Given the description of an element on the screen output the (x, y) to click on. 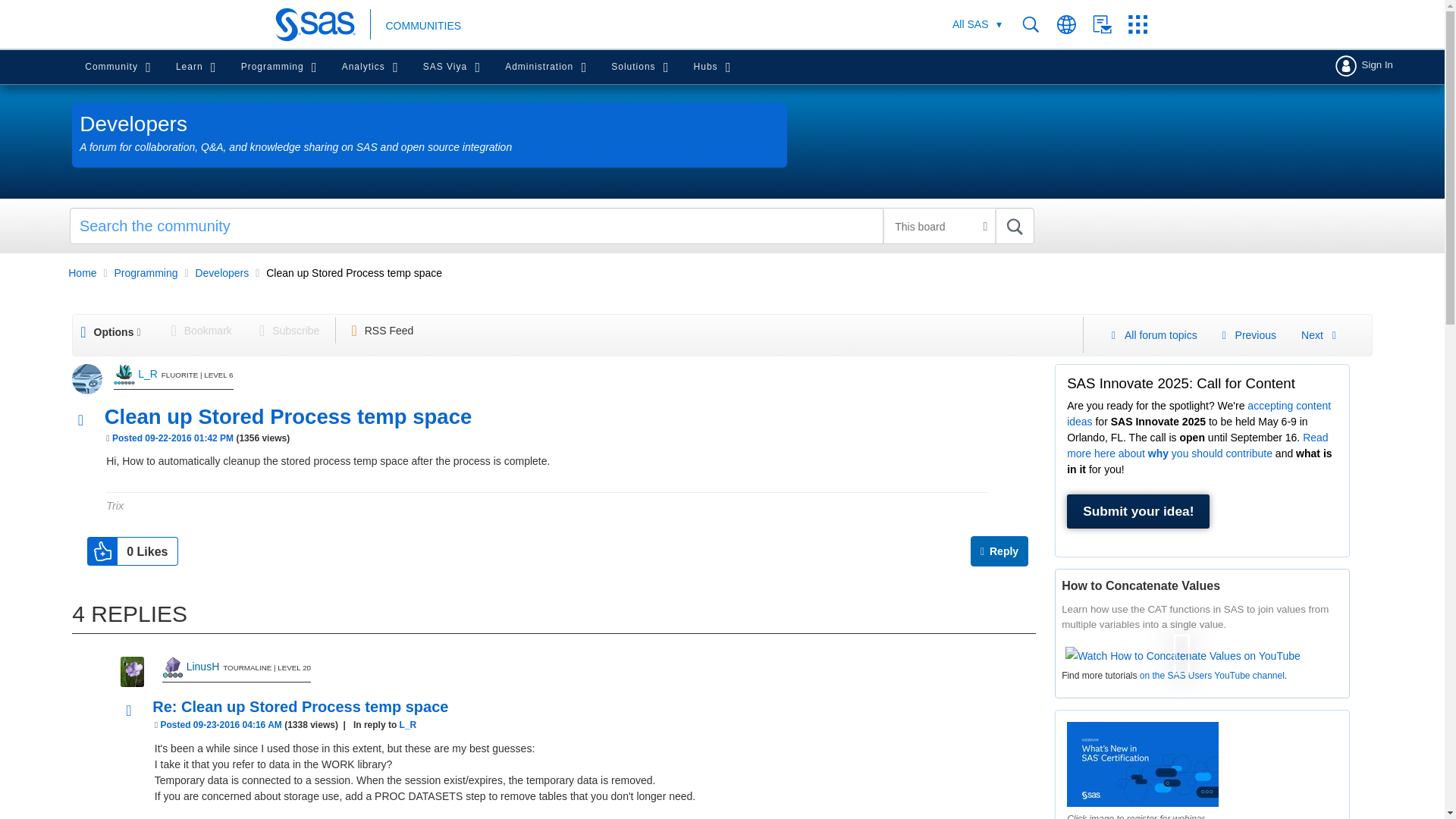
All SAS (976, 24)
Search (1015, 226)
Search Granularity (938, 226)
Contact Us (1110, 24)
Search (1015, 226)
Search (551, 226)
SAS Sites (1142, 24)
COMMUNITIES (423, 25)
Software (970, 24)
